Given the description of an element on the screen output the (x, y) to click on. 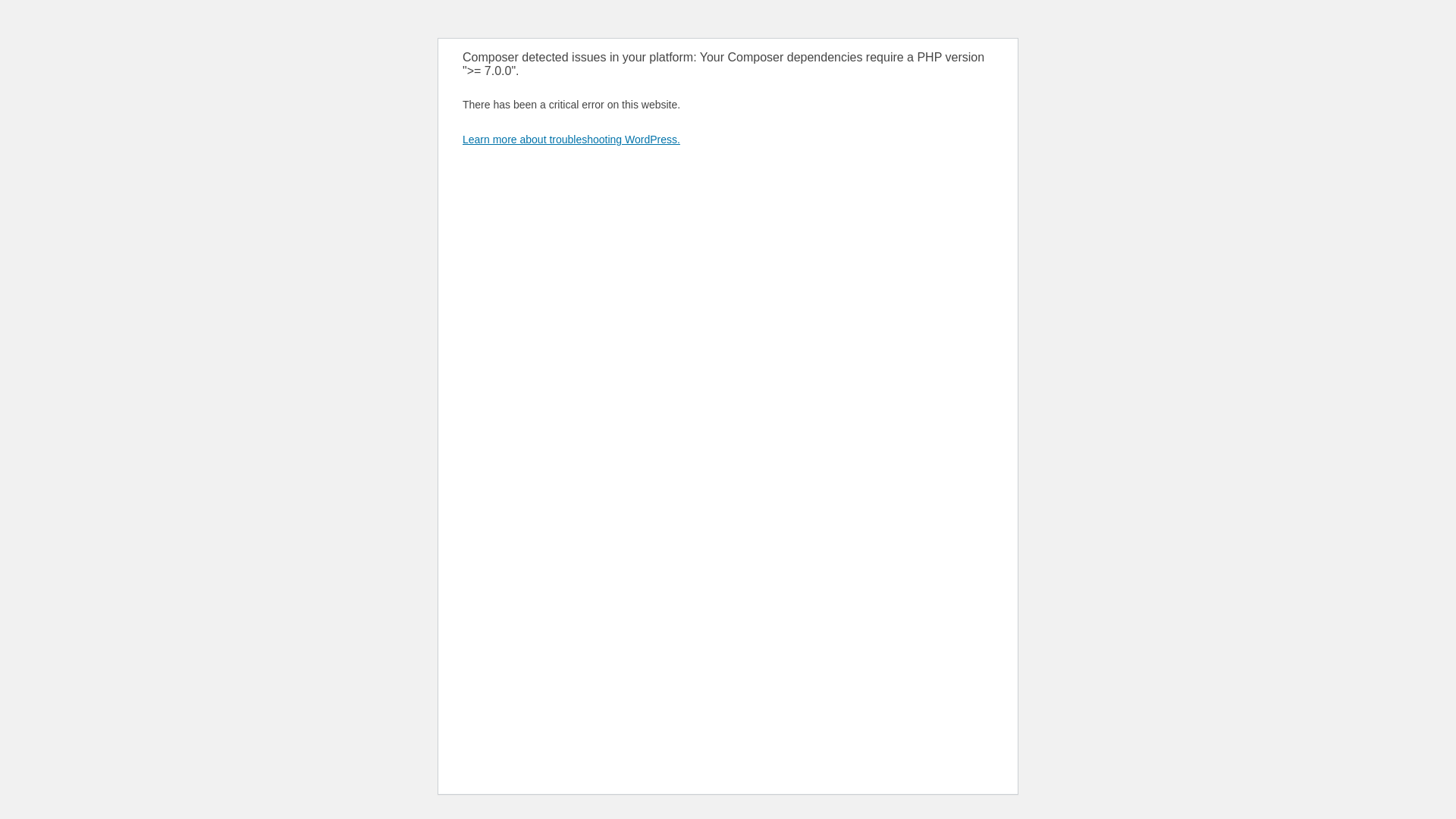
Learn more about troubleshooting WordPress. Element type: text (571, 139)
